Given the description of an element on the screen output the (x, y) to click on. 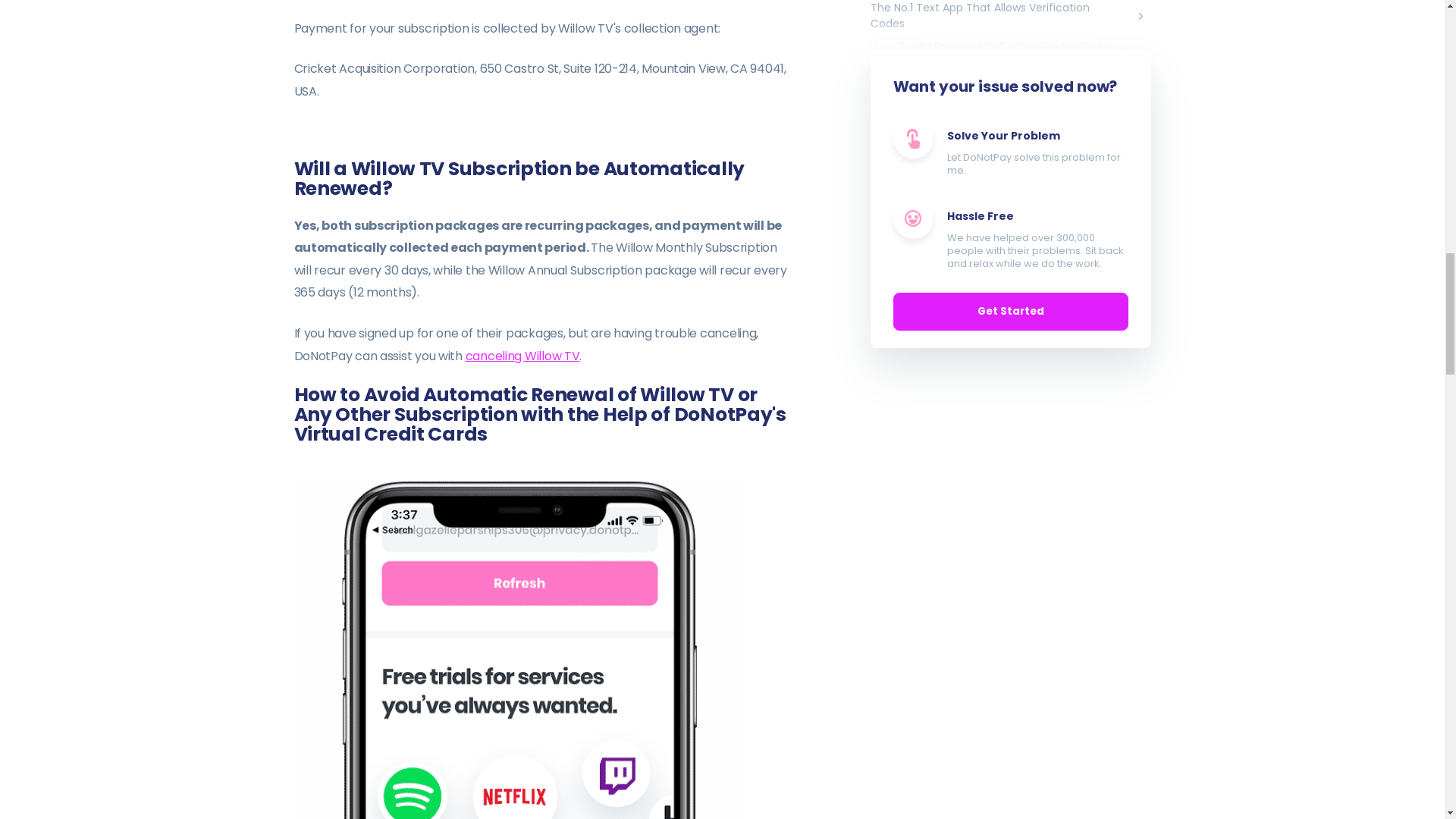
canceling Willow TV (522, 355)
